Given the description of an element on the screen output the (x, y) to click on. 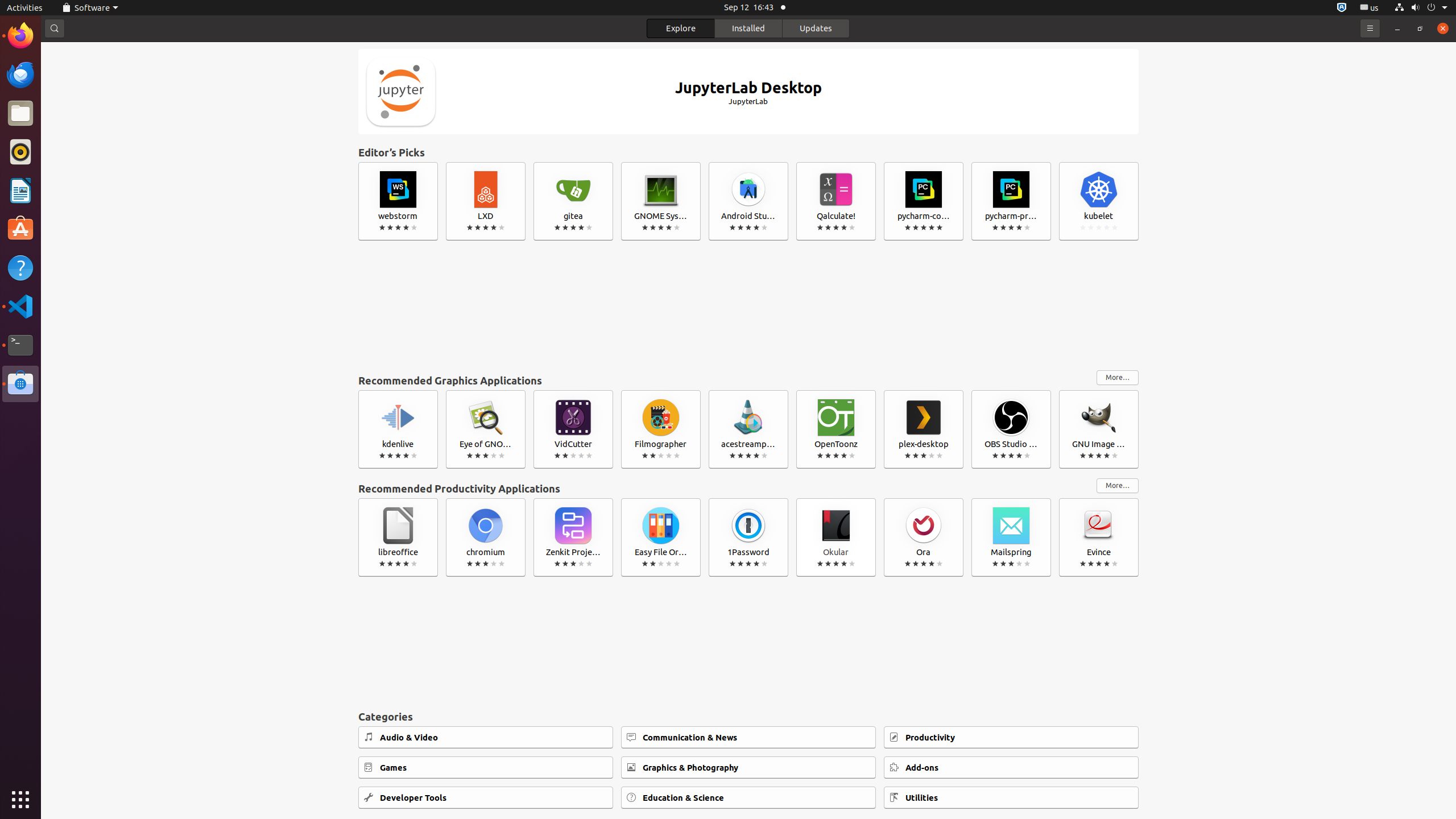
Android Studio Element type: push-button (748, 201)
Communication & News Element type: push-button (748, 737)
Restore Element type: push-button (1419, 27)
Terminal Element type: push-button (20, 344)
OpenToonz Element type: push-button (835, 429)
